Given the description of an element on the screen output the (x, y) to click on. 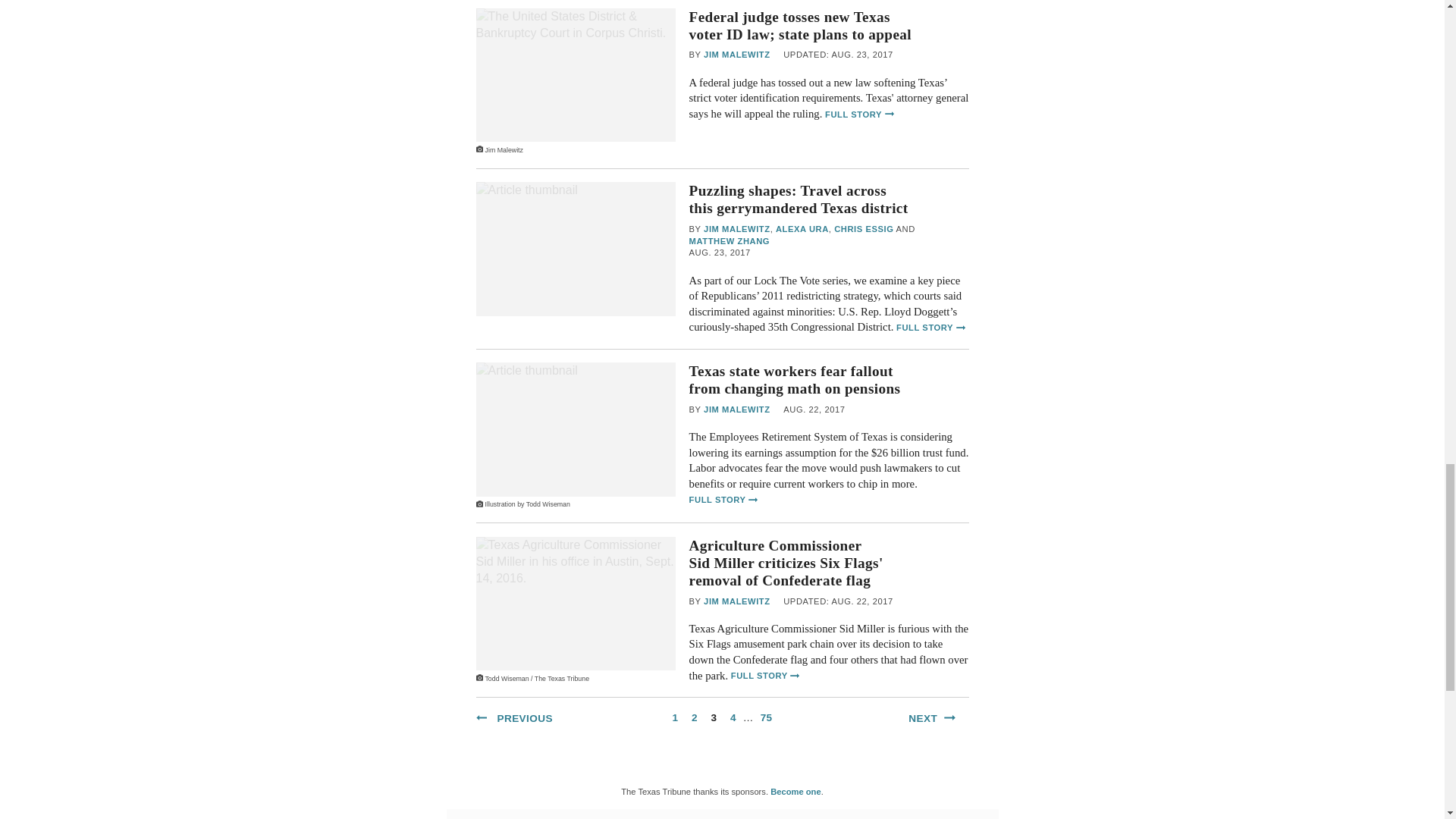
2017-08-23 00:01 CDT (719, 253)
2017-08-23 18:31 CDT (838, 55)
2017-08-22 00:01 CDT (813, 410)
2017-08-22 12:40 CDT (838, 602)
